Given the description of an element on the screen output the (x, y) to click on. 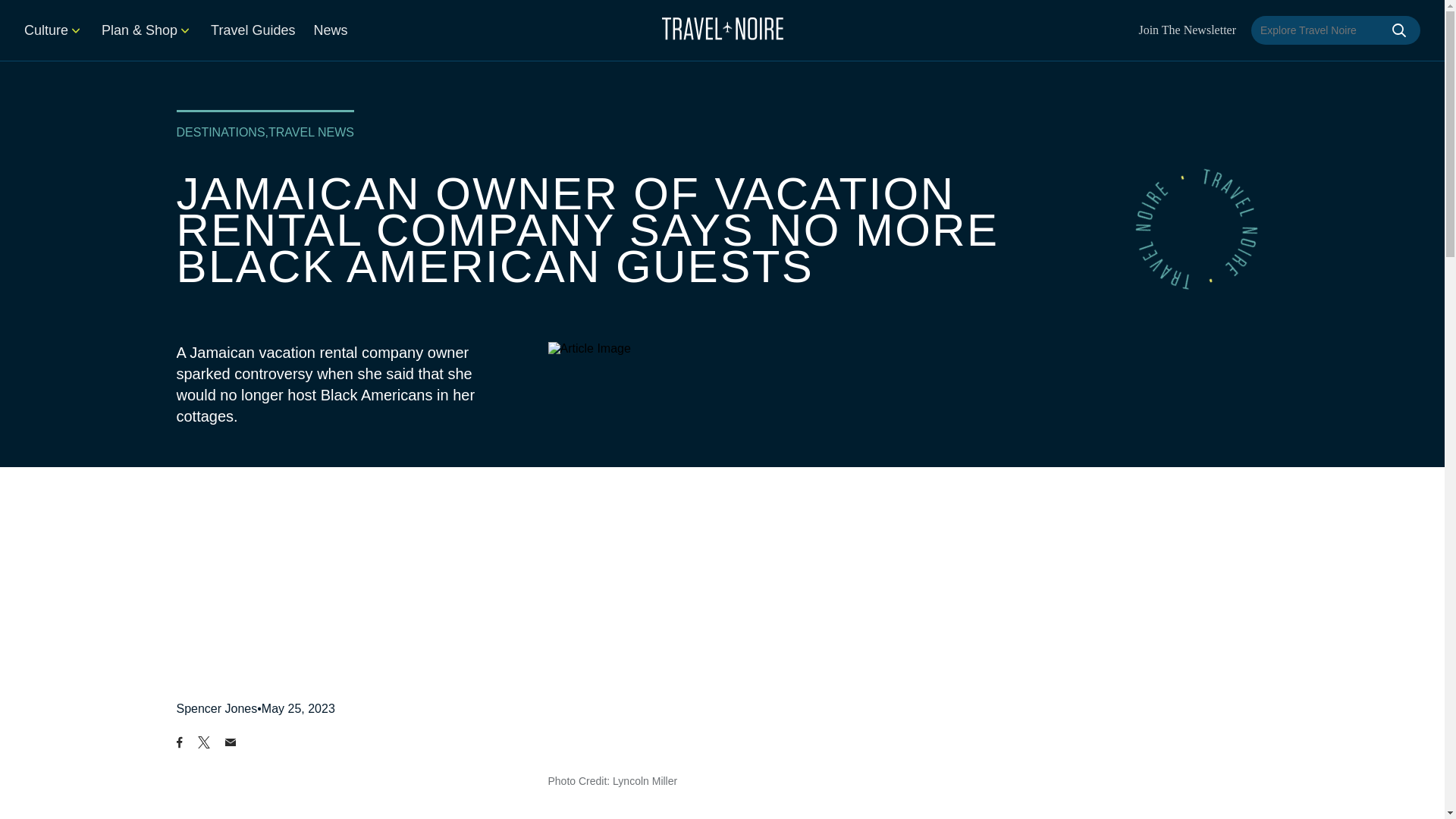
Spencer Jones (216, 707)
Newsletter (1187, 29)
TRAVEL NEWS (310, 132)
Culture (53, 30)
Travel Noire (722, 28)
DESTINATIONS (220, 132)
Travel Guides (253, 29)
News (330, 29)
Join The Newsletter (1187, 29)
Spencer Jones (216, 707)
